Given the description of an element on the screen output the (x, y) to click on. 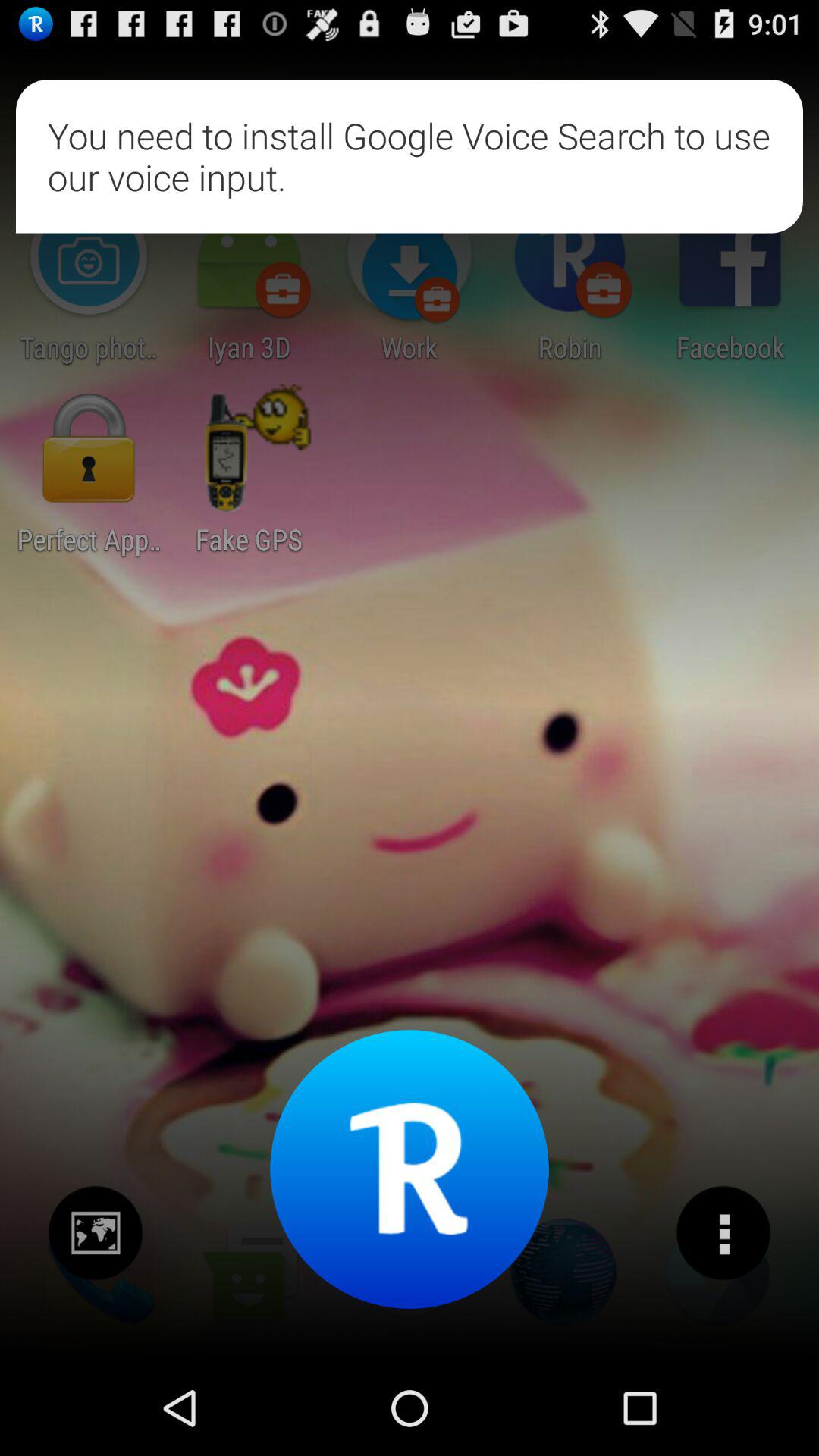
open menu (723, 1232)
